Given the description of an element on the screen output the (x, y) to click on. 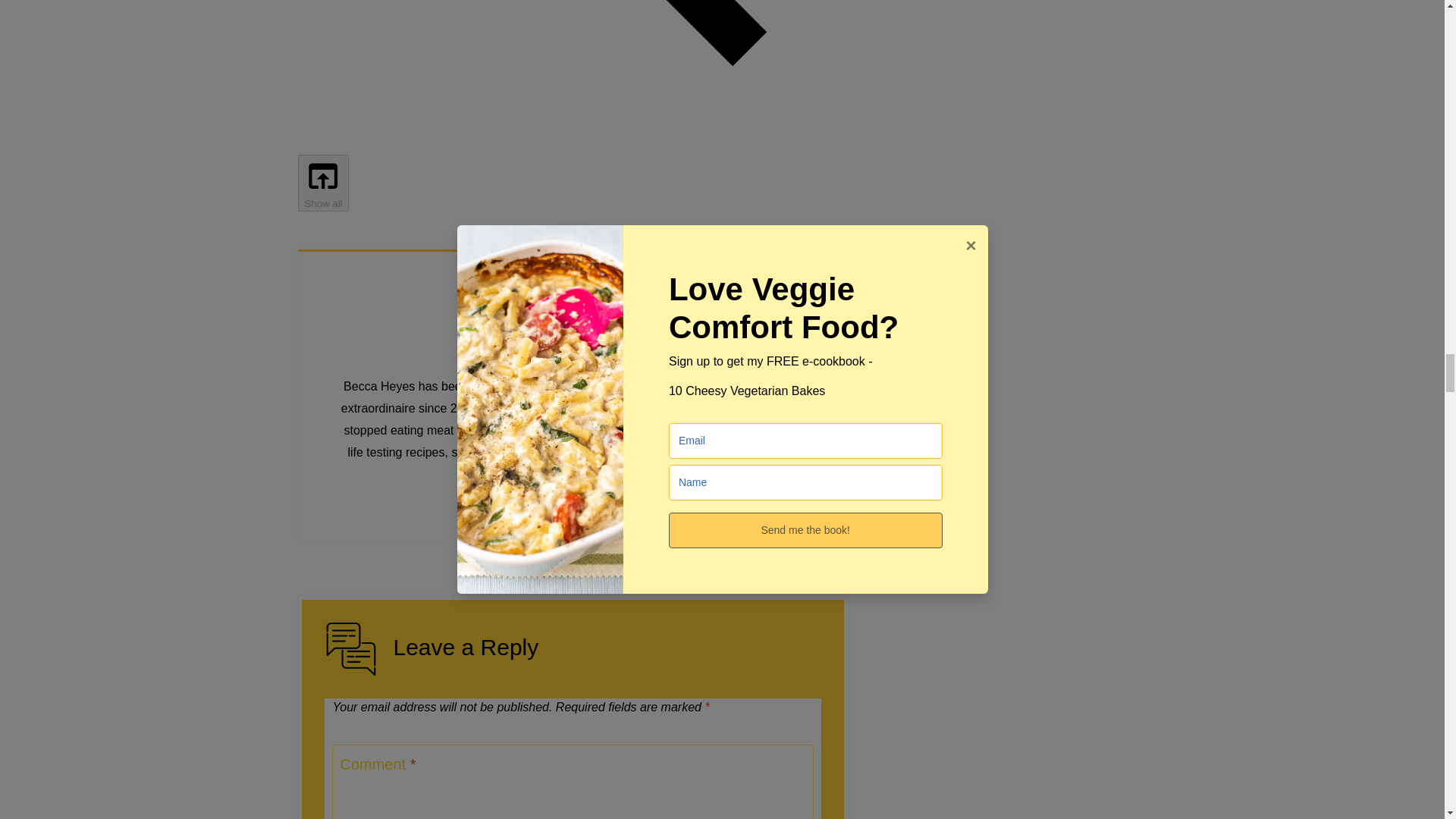
Becca Heyes (572, 322)
Follow Becca Heyes on X formerly Twitter (537, 515)
Follow Becca Heyes on Facebook (502, 515)
Posts by Becca Heyes (572, 322)
Follow Becca Heyes on Instagram (572, 515)
